Given the description of an element on the screen output the (x, y) to click on. 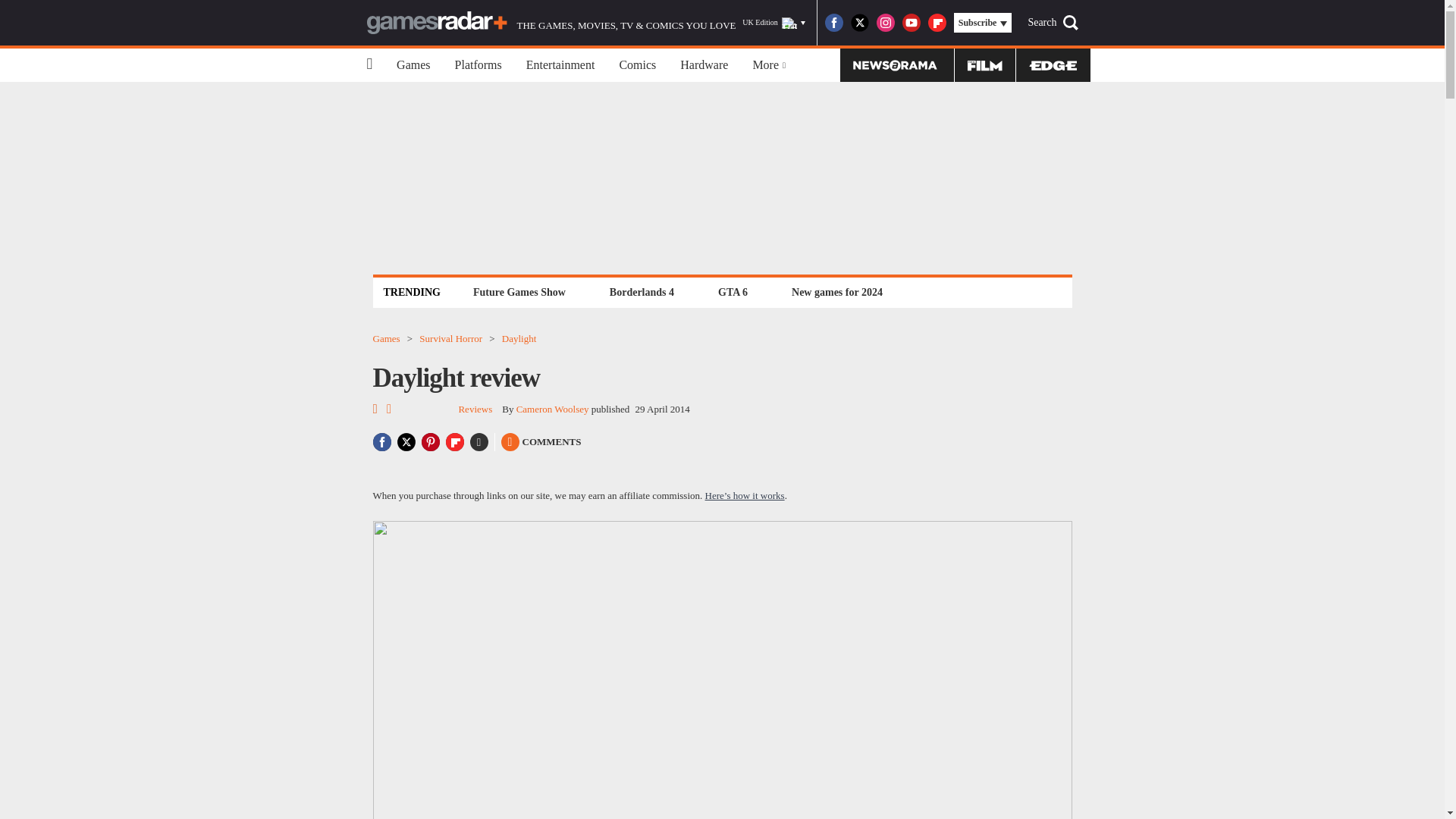
GTA 6 (732, 292)
New games for 2024 (837, 292)
Borderlands 4 (641, 292)
Comics (637, 64)
Future Games Show (518, 292)
Platforms (477, 64)
Hardware (703, 64)
Games (413, 64)
Entertainment (560, 64)
UK Edition (773, 22)
